Given the description of an element on the screen output the (x, y) to click on. 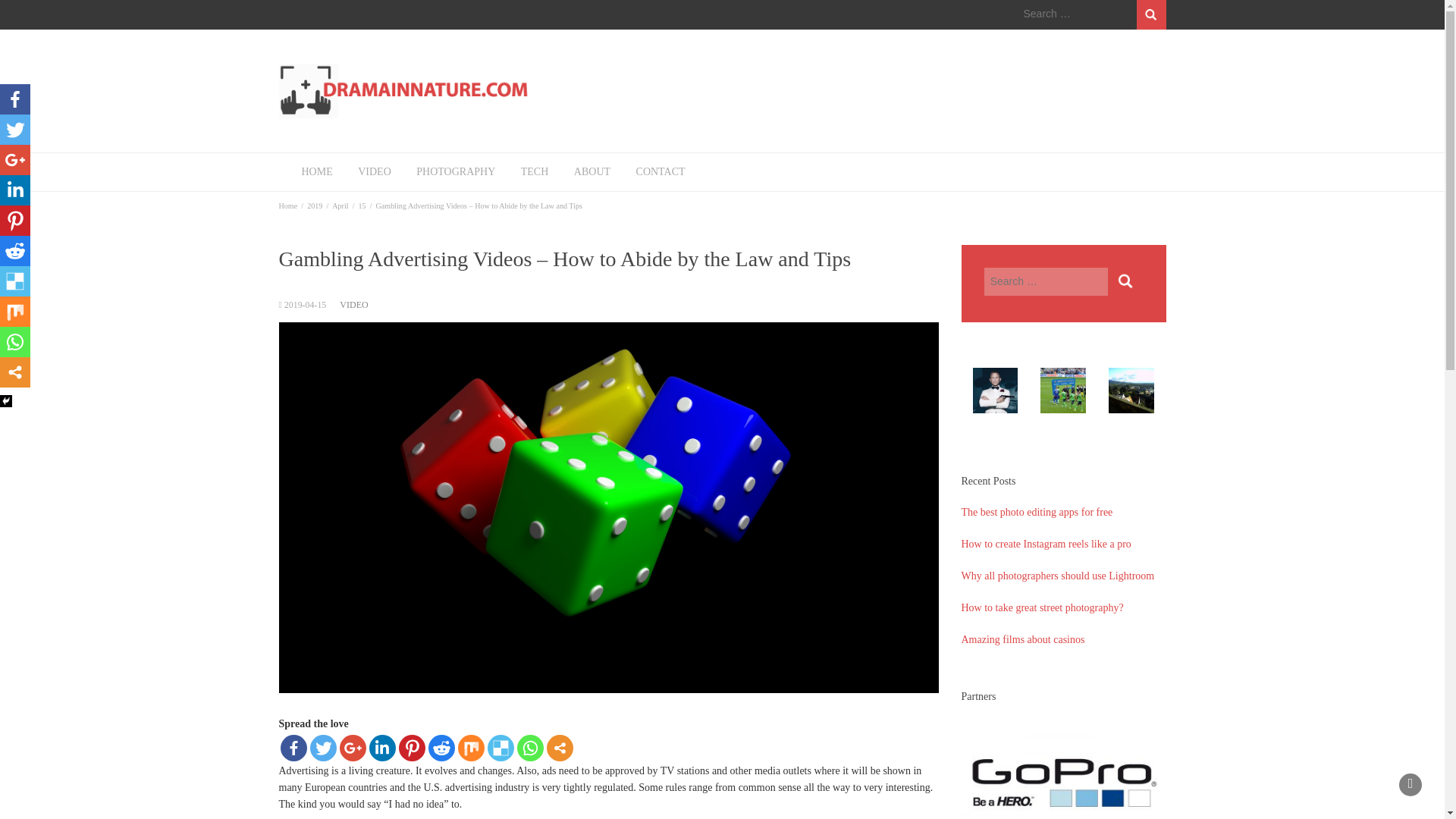
Search for: (1076, 13)
Delicious (499, 747)
Search (1125, 281)
ABOUT (591, 171)
2019 (314, 205)
PHOTOGRAPHY (455, 171)
2019-04-15 (304, 304)
PHOTOGRAPHY (455, 171)
Amazing films about casinos (1022, 639)
Reddit (441, 747)
